Given the description of an element on the screen output the (x, y) to click on. 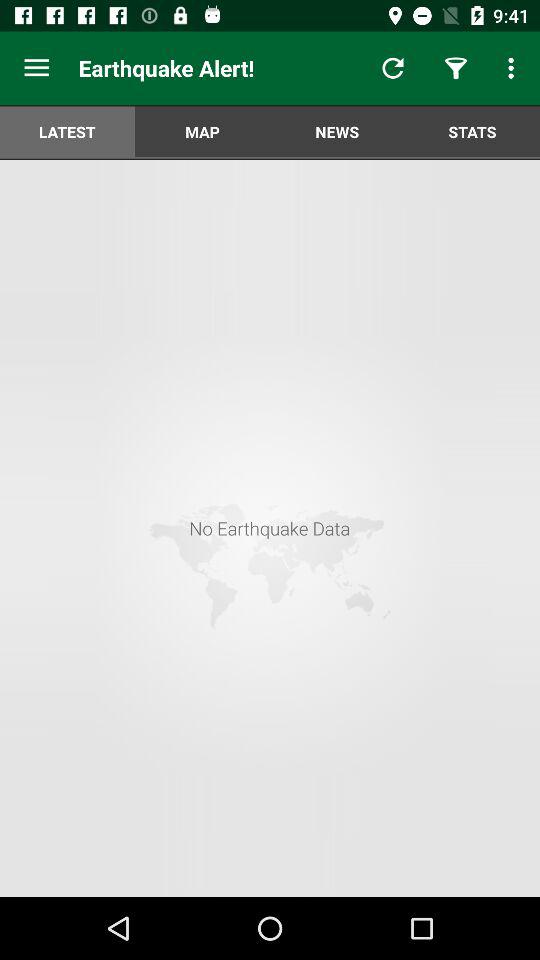
turn off app next to the earthquake alert! (392, 67)
